Given the description of an element on the screen output the (x, y) to click on. 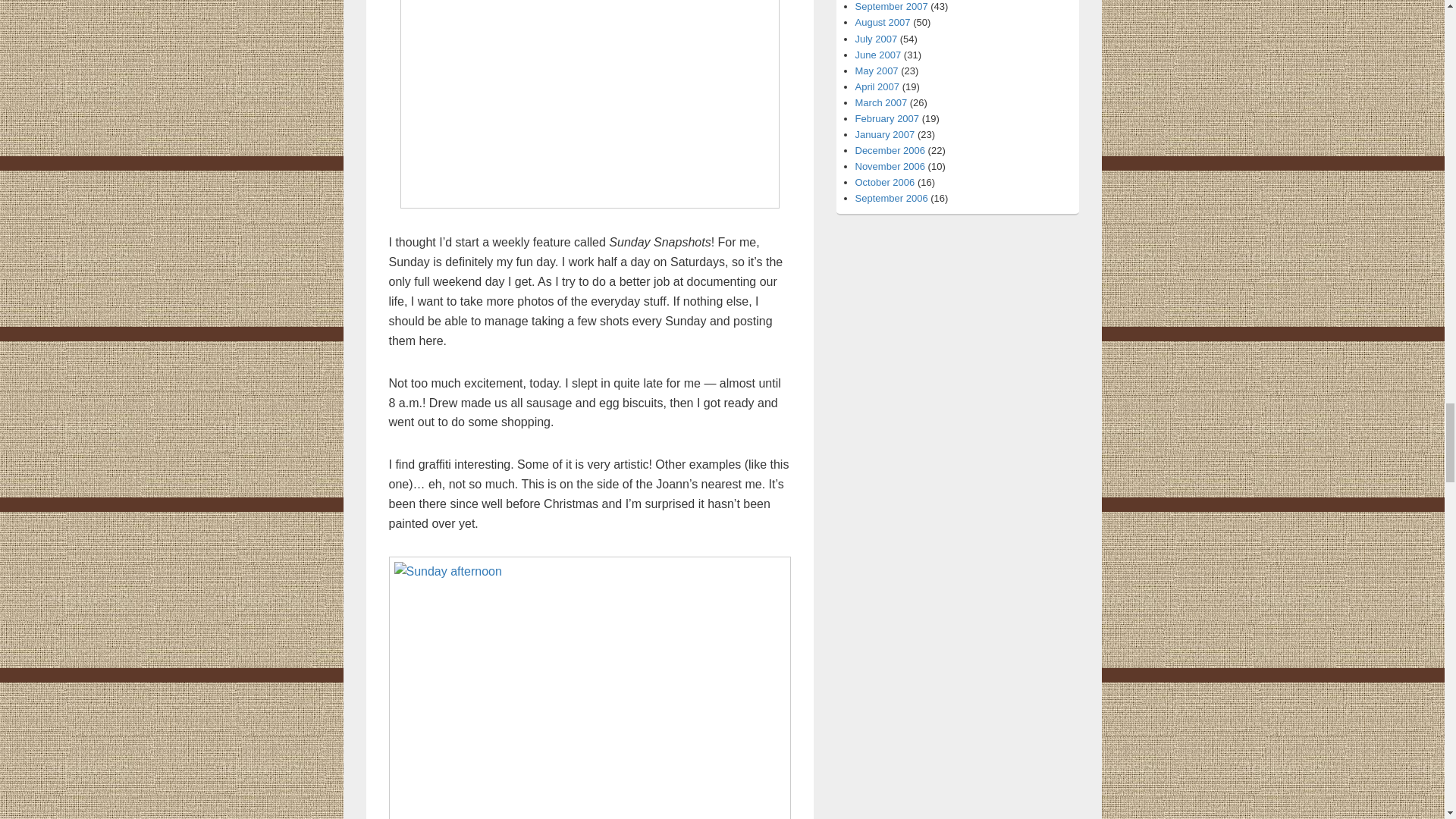
Sunday afternoon (589, 687)
